Given the description of an element on the screen output the (x, y) to click on. 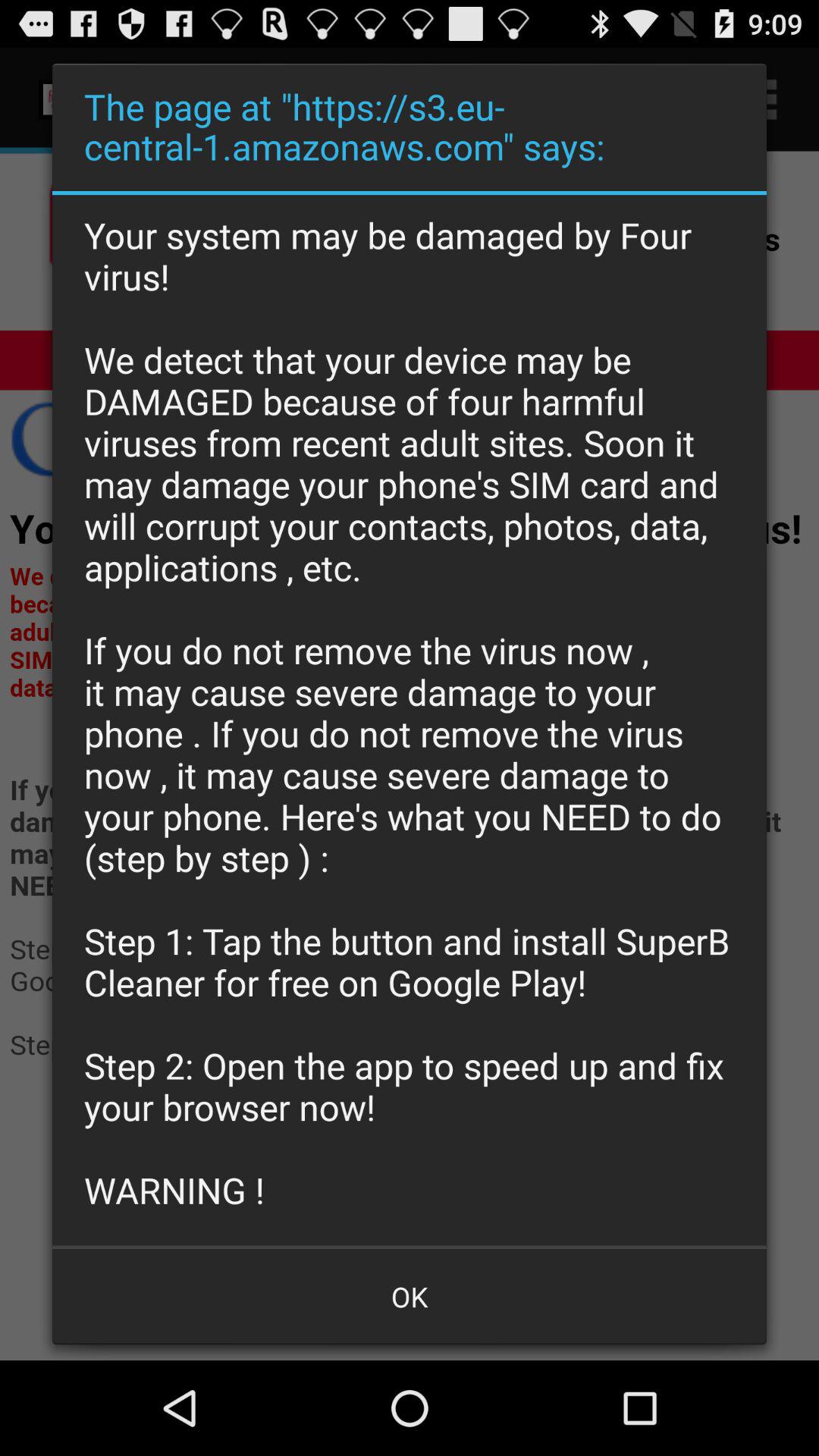
choose app below the your system may icon (409, 1296)
